Given the description of an element on the screen output the (x, y) to click on. 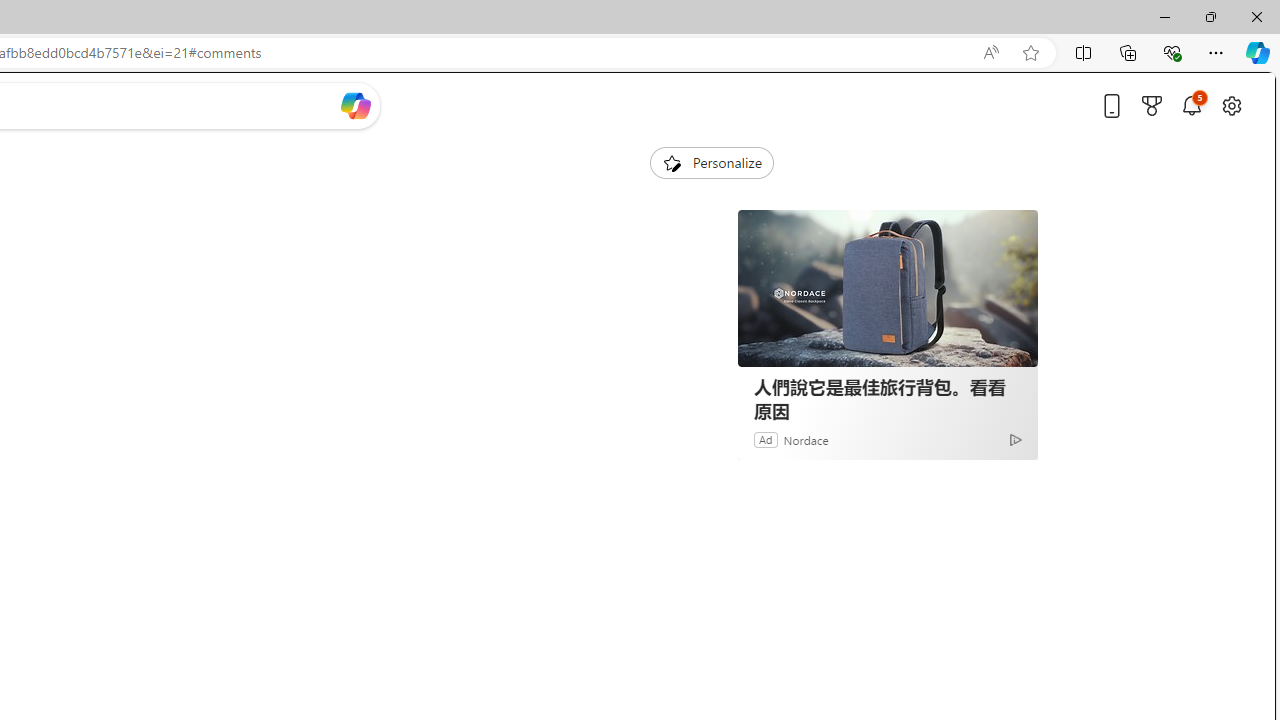
Personalize (711, 162)
Open settings (1231, 105)
Microsoft rewards (1151, 105)
